Given the description of an element on the screen output the (x, y) to click on. 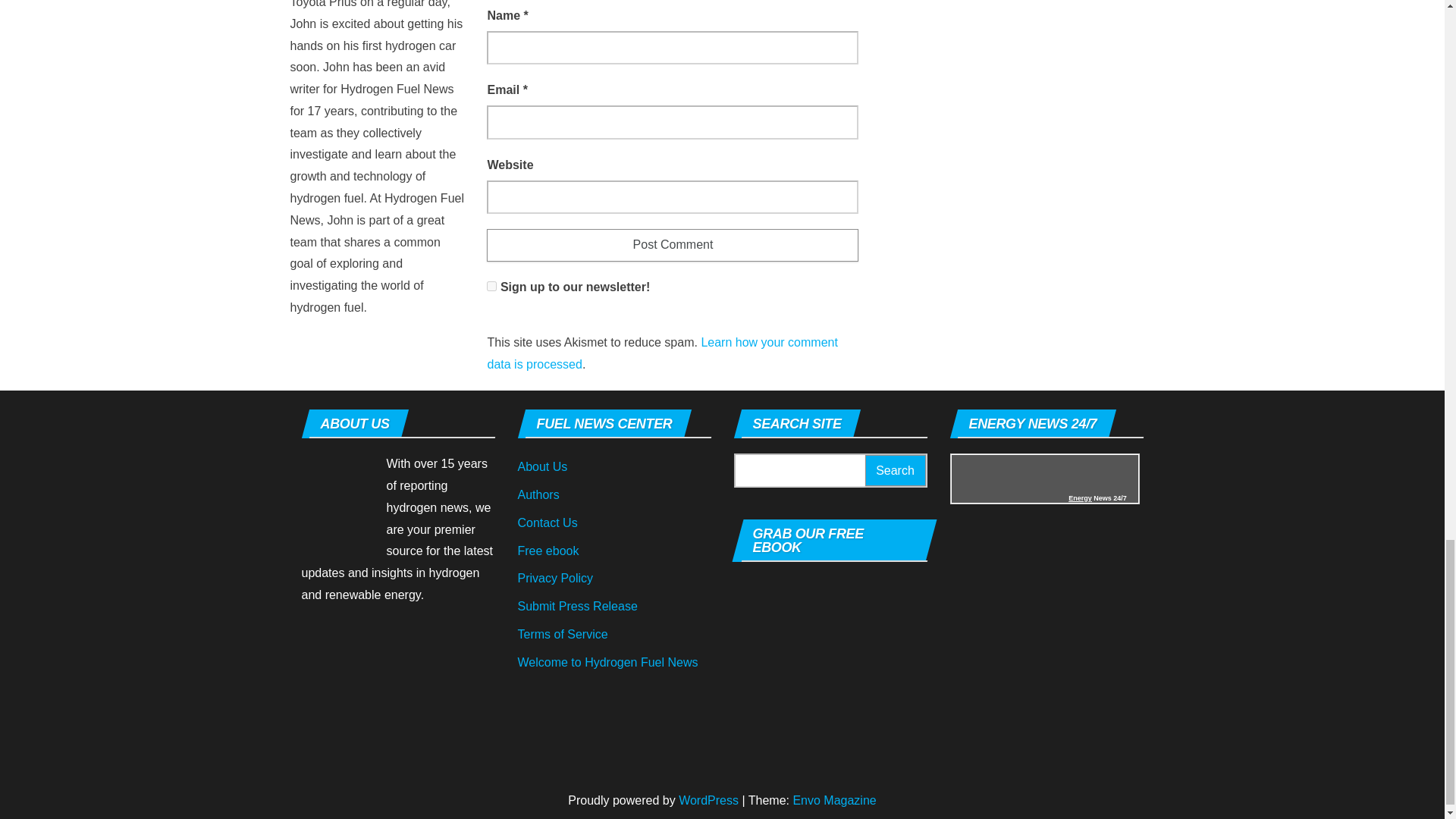
Post Comment (672, 245)
1 (491, 286)
Search (894, 470)
